Given the description of an element on the screen output the (x, y) to click on. 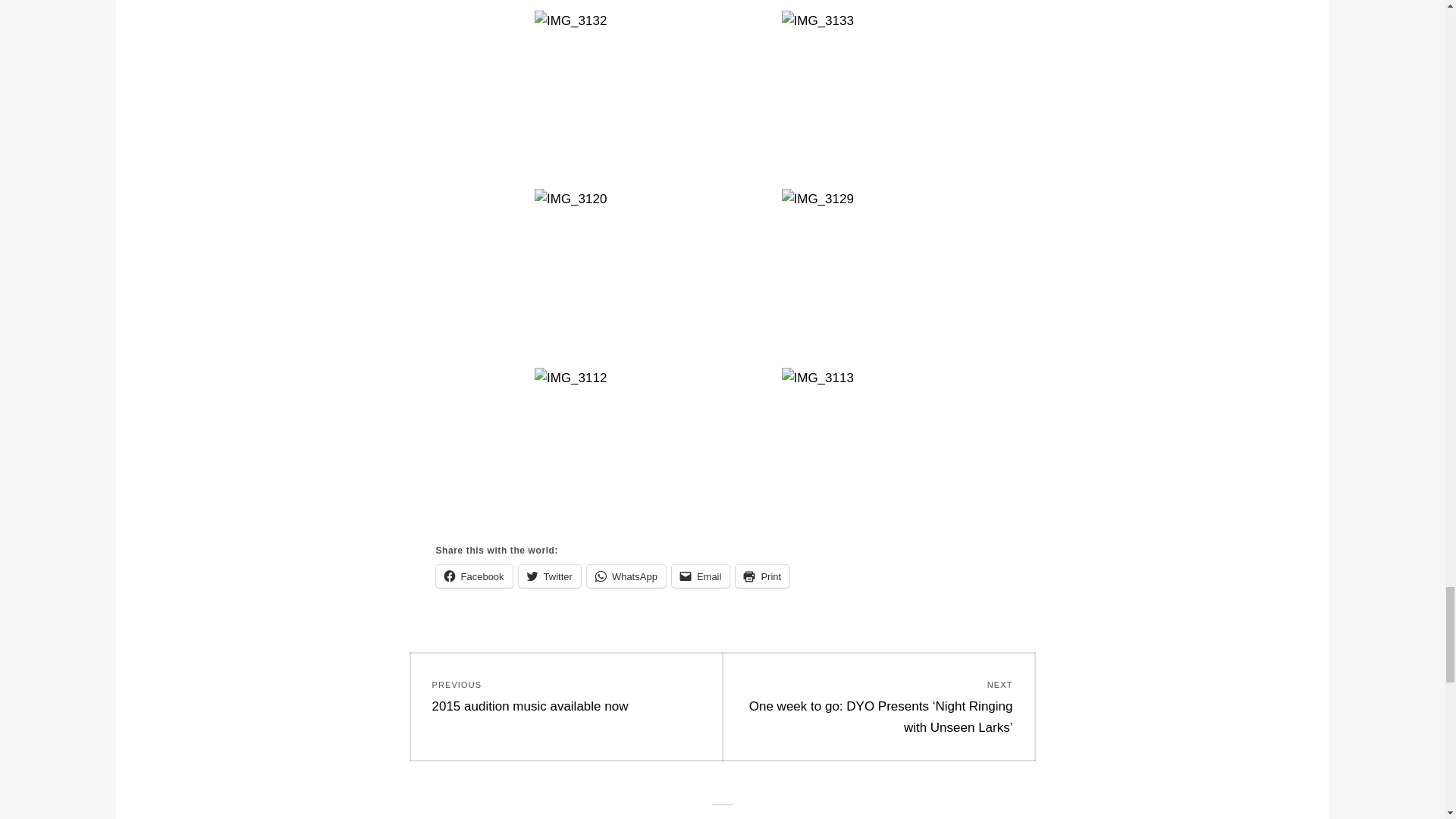
Click to print (762, 576)
Click to share on Facebook (473, 576)
Click to share on WhatsApp (625, 576)
Click to share on Twitter (549, 576)
Click to email a link to a friend (700, 576)
